Given the description of an element on the screen output the (x, y) to click on. 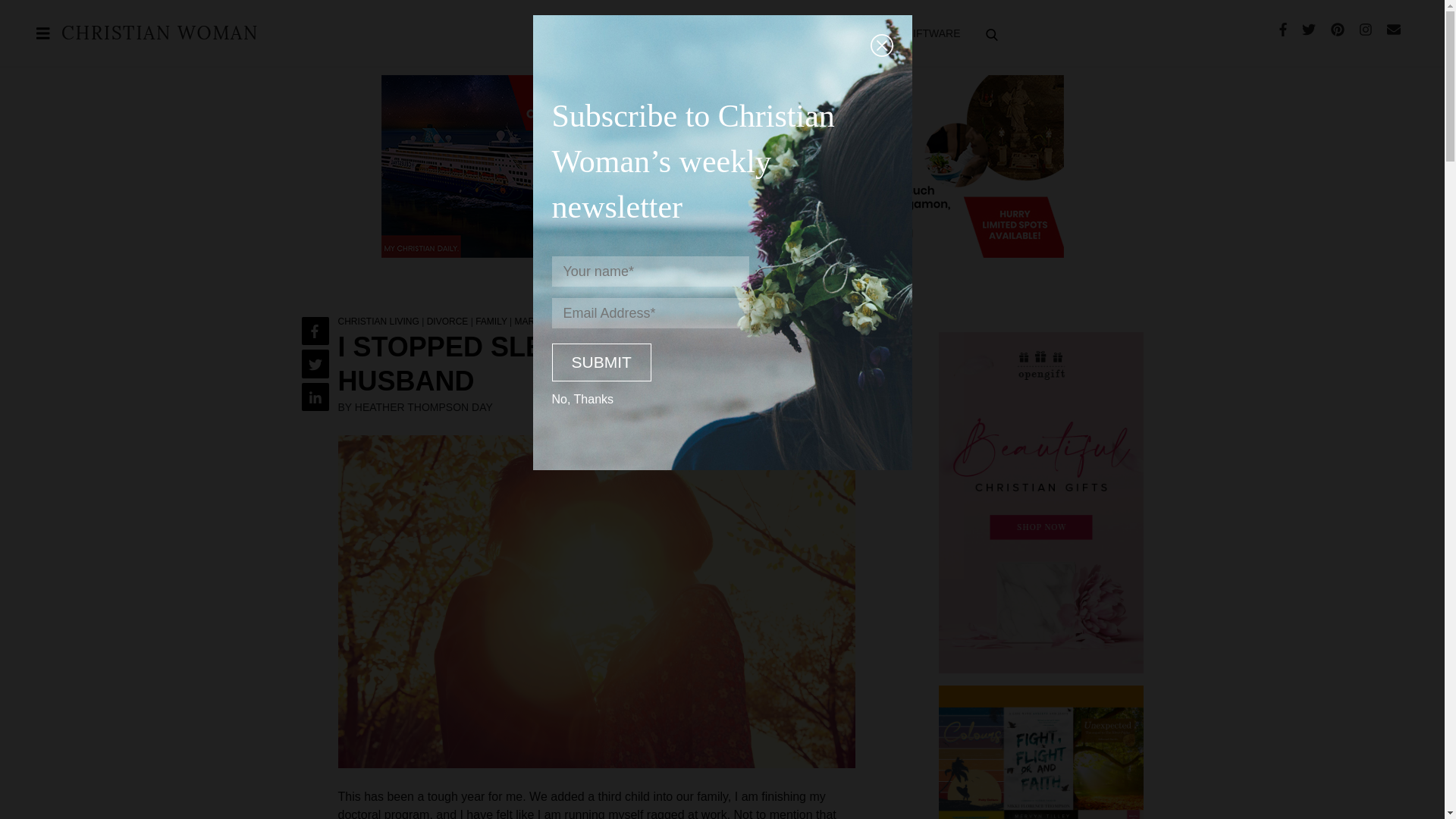
GIFTWARE (932, 33)
FAITH (552, 33)
Search (1398, 98)
PARENTING (613, 33)
Christian Woman (159, 34)
RELATIONSHIPS (700, 33)
Click to share this post on Twitter (315, 363)
SUBMIT (600, 362)
